Given the description of an element on the screen output the (x, y) to click on. 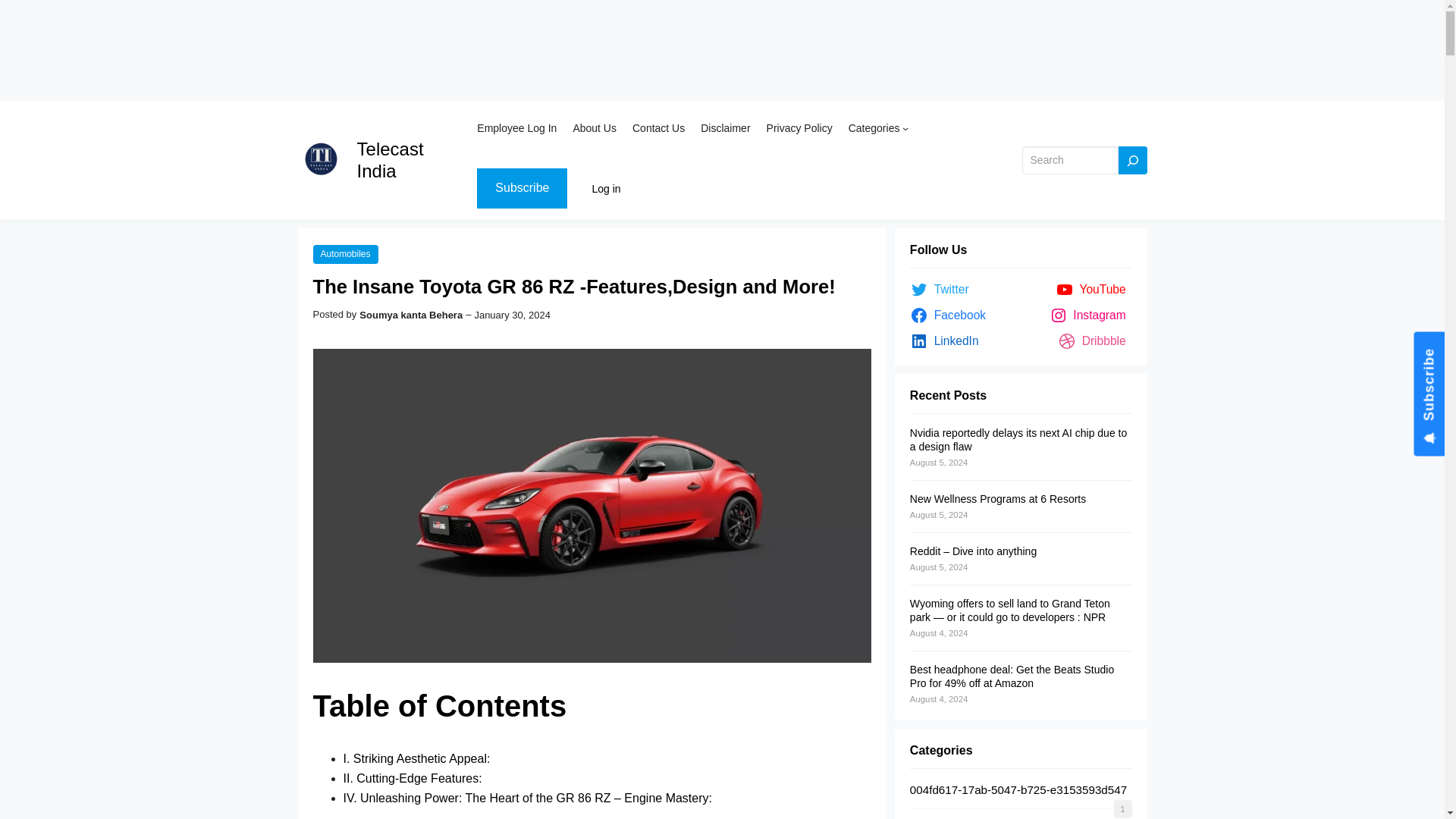
Advertisement (455, 50)
Facebook (950, 315)
Disclaimer (724, 128)
I. Striking Aesthetic Appeal: (415, 758)
Log in (605, 188)
About Us (593, 128)
New Wellness Programs at 6 Resorts (998, 499)
II. Cutting-Edge Features: (411, 778)
LinkedIn (947, 341)
Automobiles (345, 253)
Instagram (1090, 315)
Categories (873, 128)
Employee Log In (516, 128)
